Given the description of an element on the screen output the (x, y) to click on. 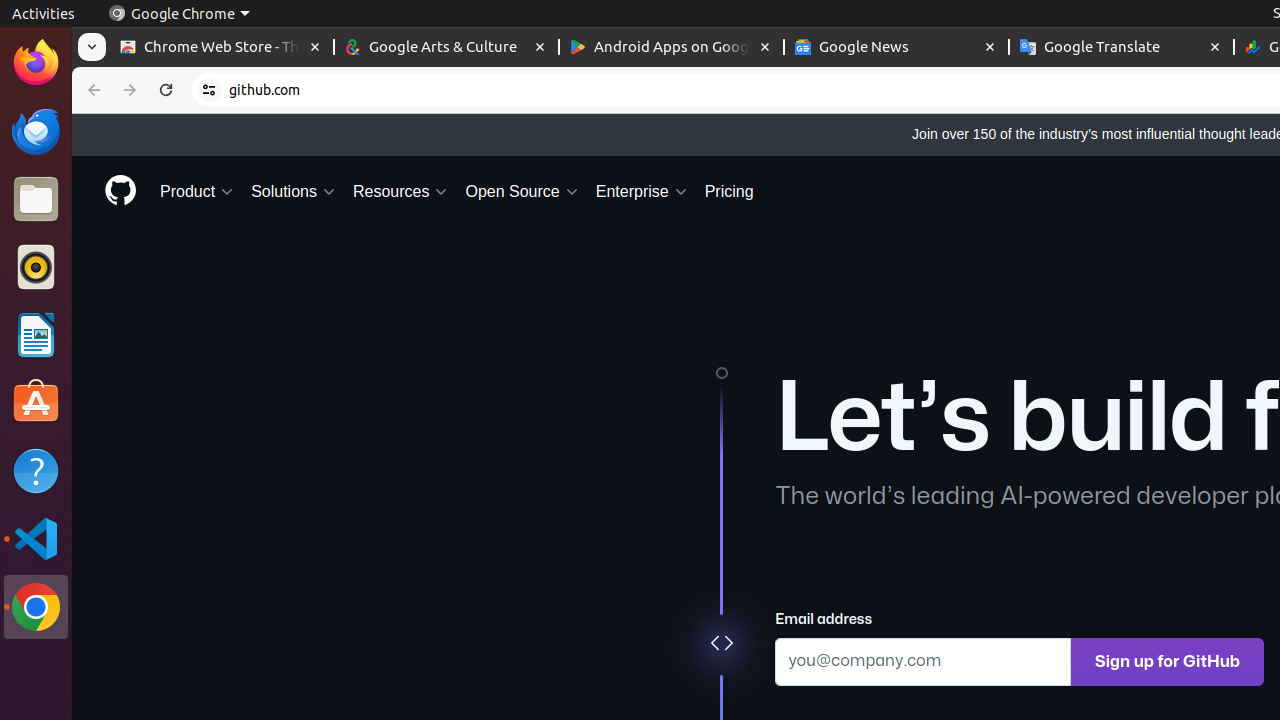
Forward Element type: push-button (130, 90)
Pricing Element type: link (729, 191)
Back Element type: push-button (91, 90)
Resources Element type: push-button (401, 191)
Skip to content Element type: link (72, 114)
